Given the description of an element on the screen output the (x, y) to click on. 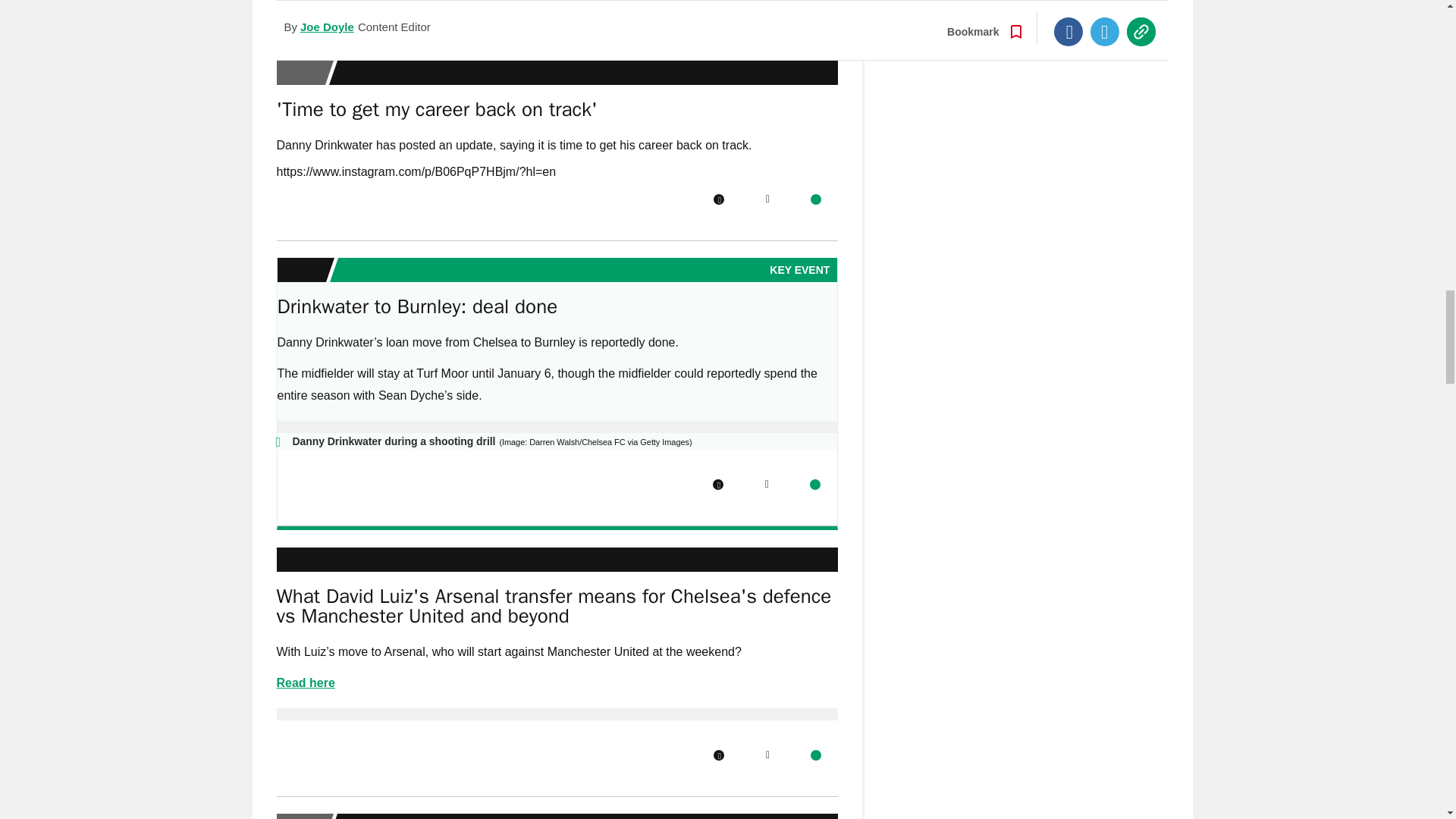
Facebook (718, 3)
Twitter (767, 199)
Twitter (767, 3)
Twitter (766, 484)
Facebook (718, 199)
Facebook (718, 484)
